Given the description of an element on the screen output the (x, y) to click on. 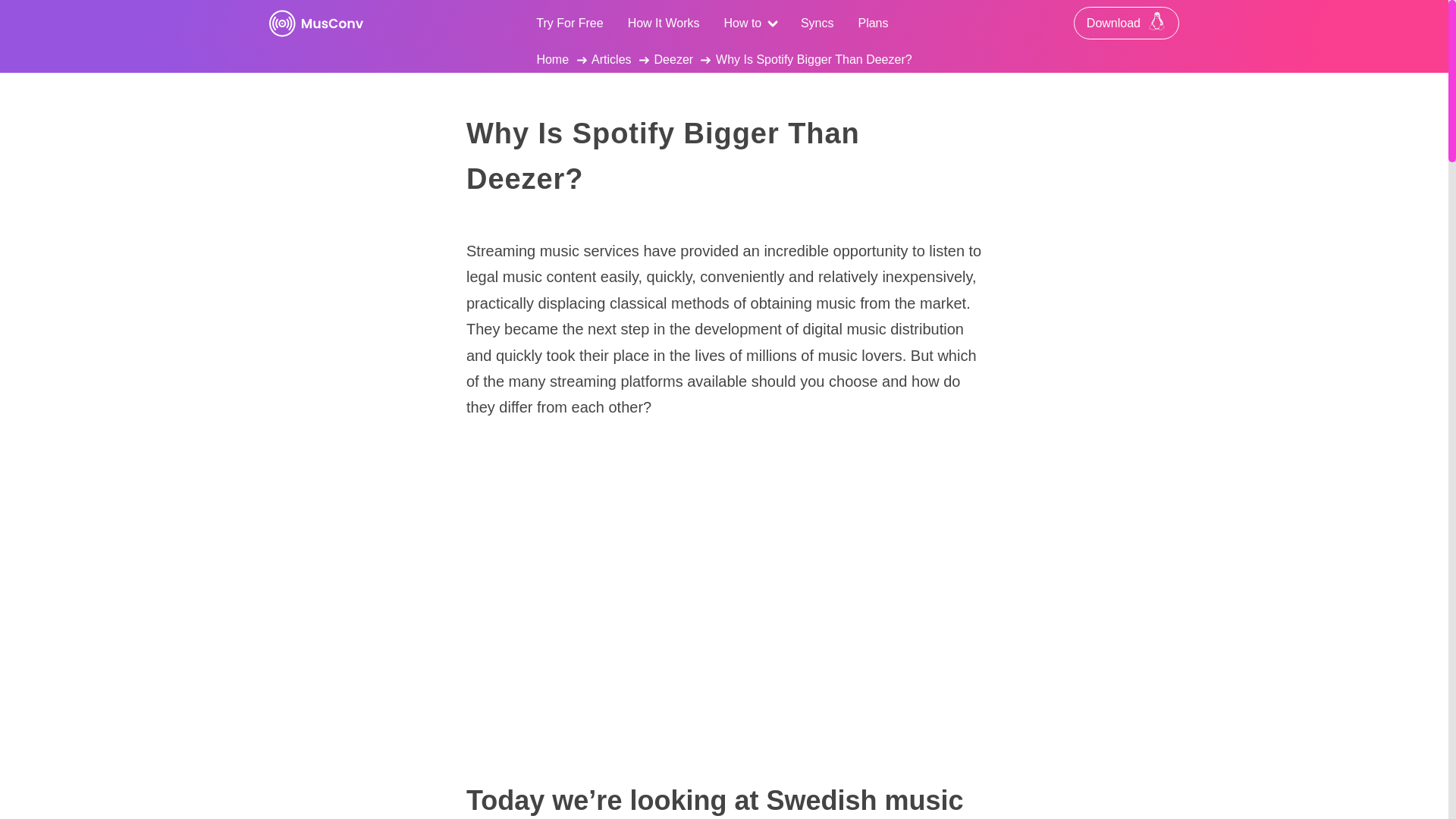
Download (1126, 22)
Go to the Articles category archives. (610, 58)
Deezer (673, 58)
Try For Free (568, 23)
Syncs (817, 23)
How It Works (663, 23)
Home (551, 58)
Go to Home. (551, 58)
Plans (872, 23)
